Given the description of an element on the screen output the (x, y) to click on. 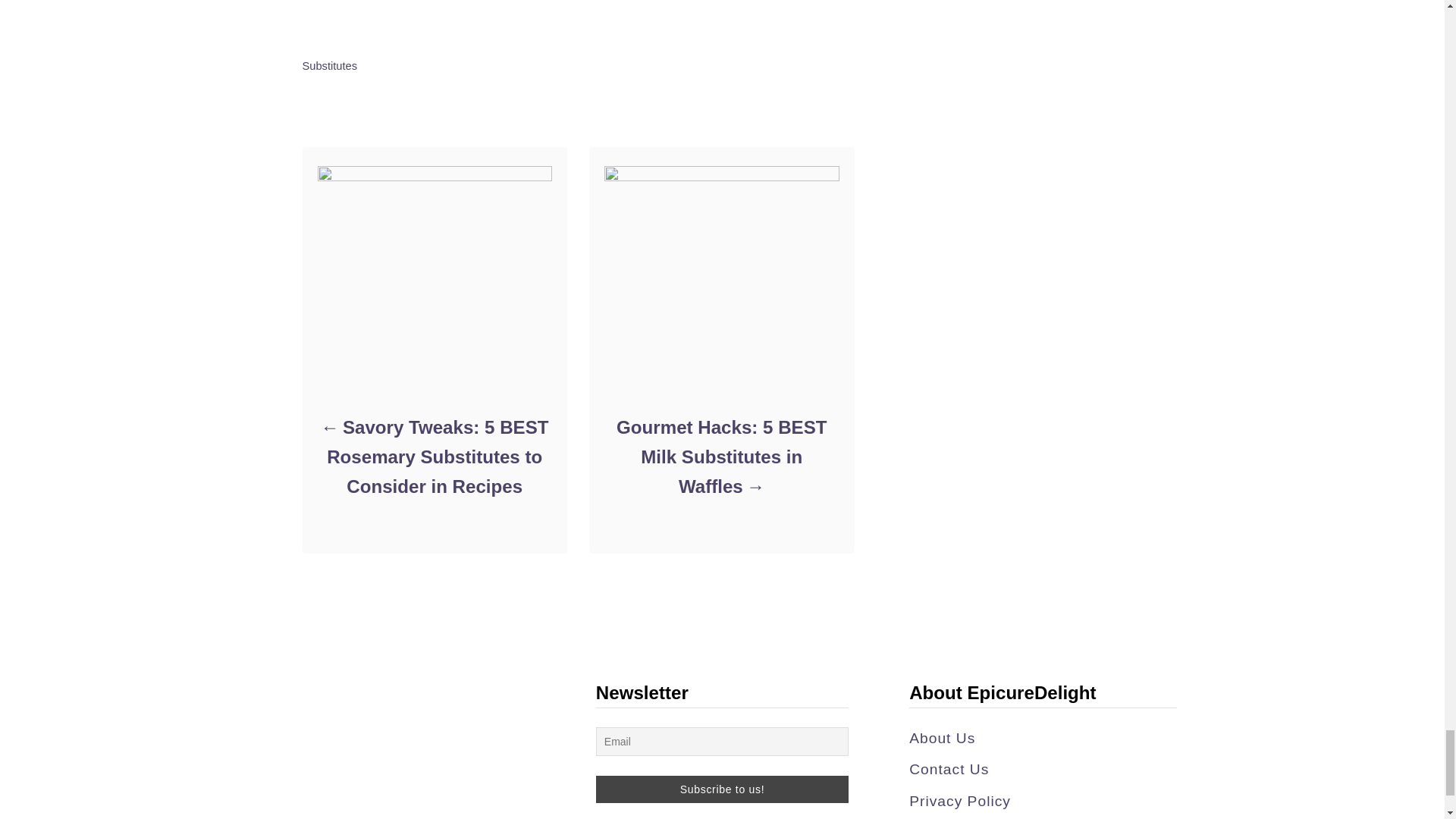
Subscribe to us! (721, 789)
